Given the description of an element on the screen output the (x, y) to click on. 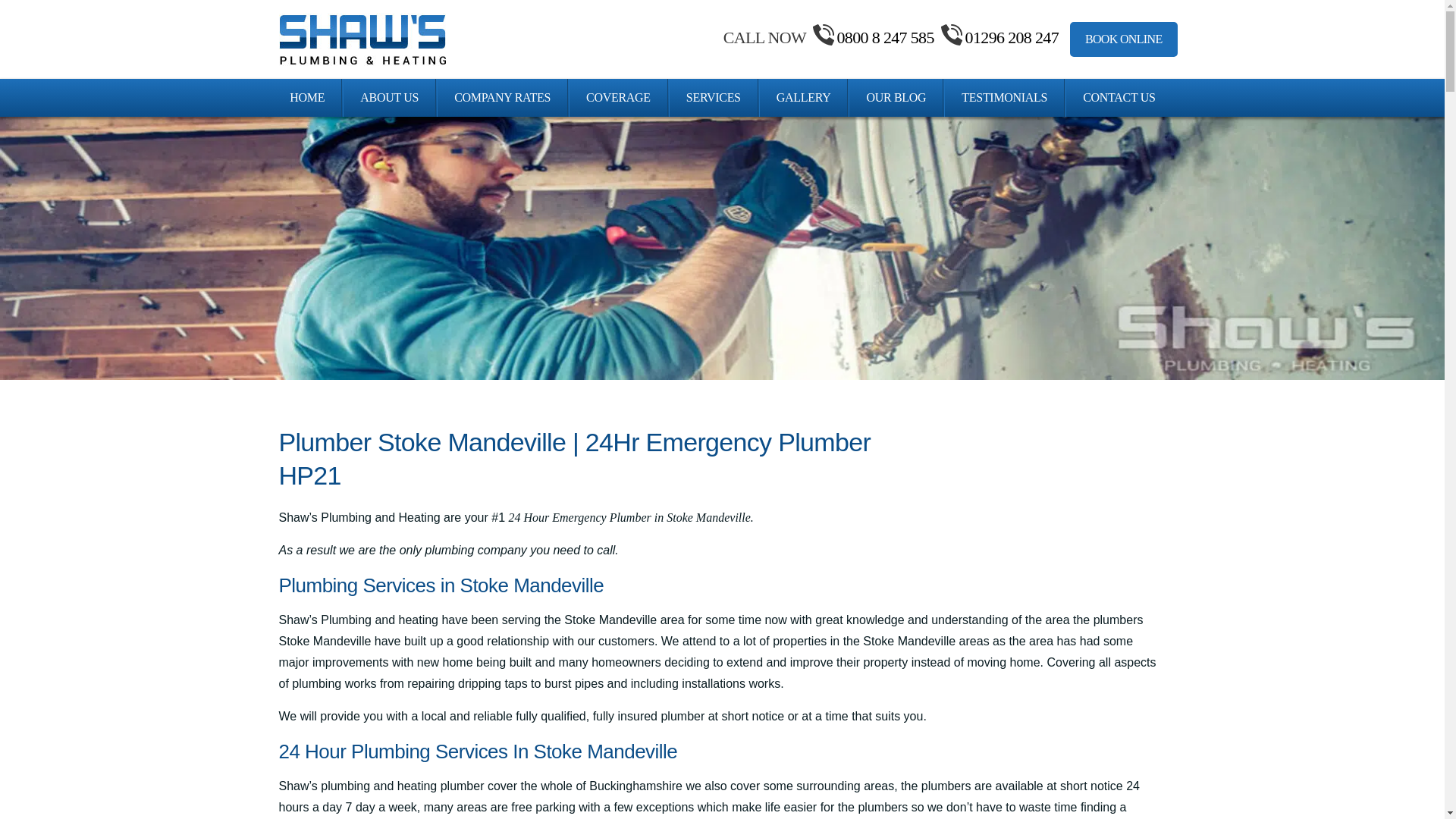
BOOK ONLINE (1123, 39)
OUR BLOG (895, 97)
CONTACT US (1118, 97)
0800 8 247 585 (871, 36)
01296 208 247 (997, 36)
COVERAGE (617, 97)
GALLERY (803, 97)
ABOUT US (389, 97)
COMPANY RATES (502, 97)
SERVICES (713, 97)
HOME (306, 97)
TESTIMONIALS (1004, 97)
